Given the description of an element on the screen output the (x, y) to click on. 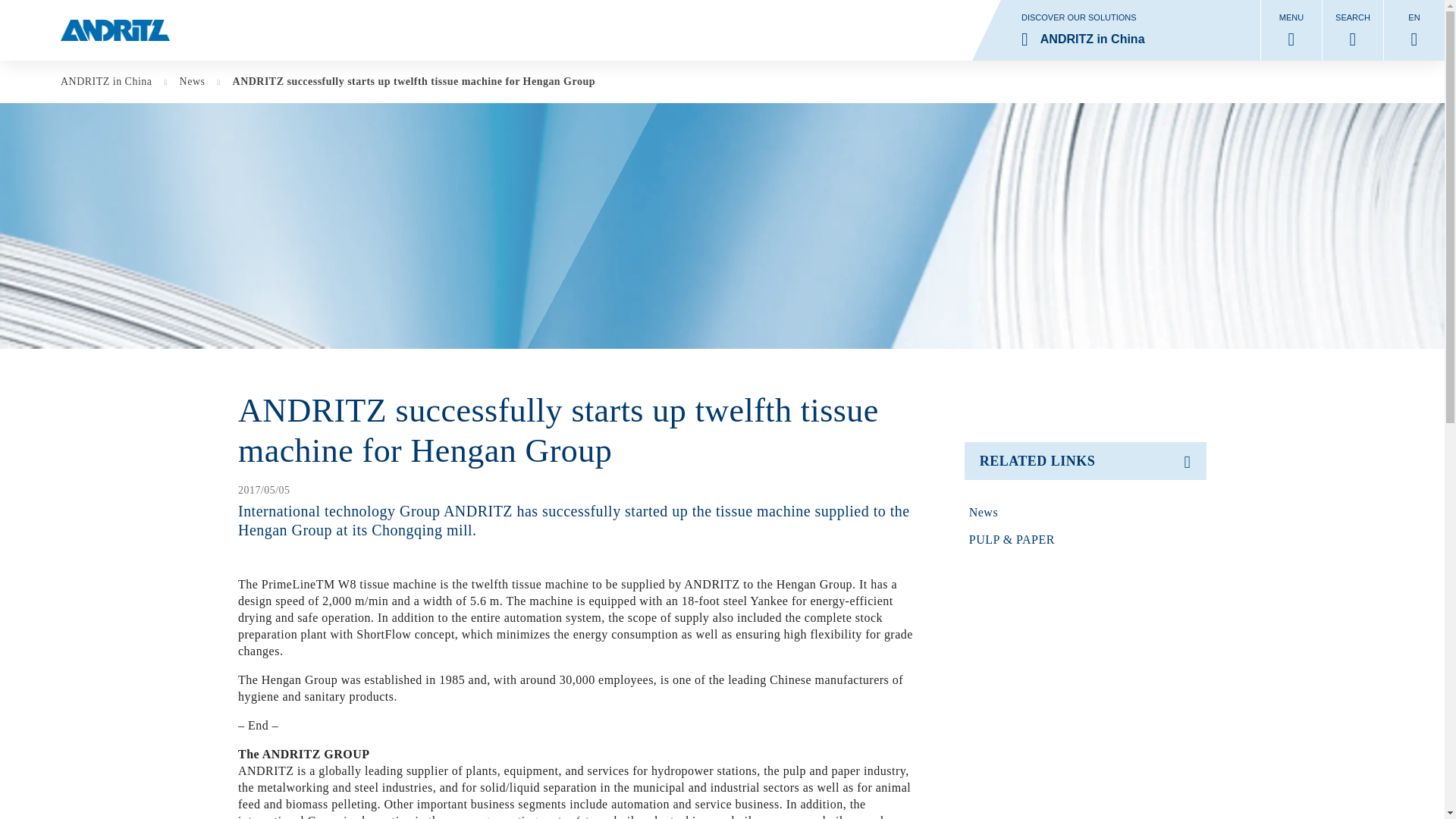
ANDRITZ in China (114, 81)
ANDRITZ in China (1116, 30)
News (114, 81)
News (200, 81)
News (1085, 512)
SEARCH (1085, 512)
MENU (1352, 30)
News (1291, 30)
